Given the description of an element on the screen output the (x, y) to click on. 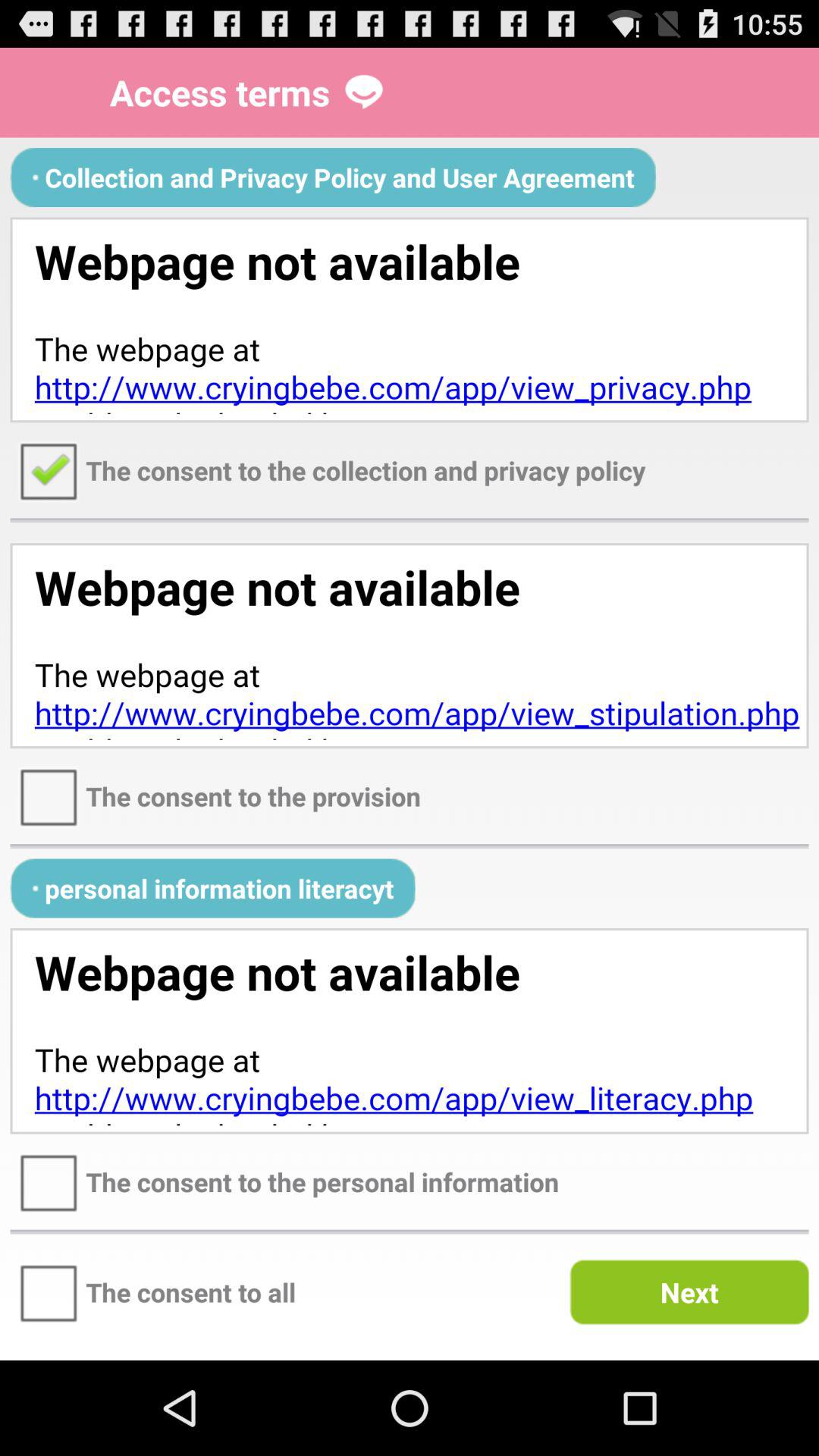
for adverisment (409, 1030)
